Given the description of an element on the screen output the (x, y) to click on. 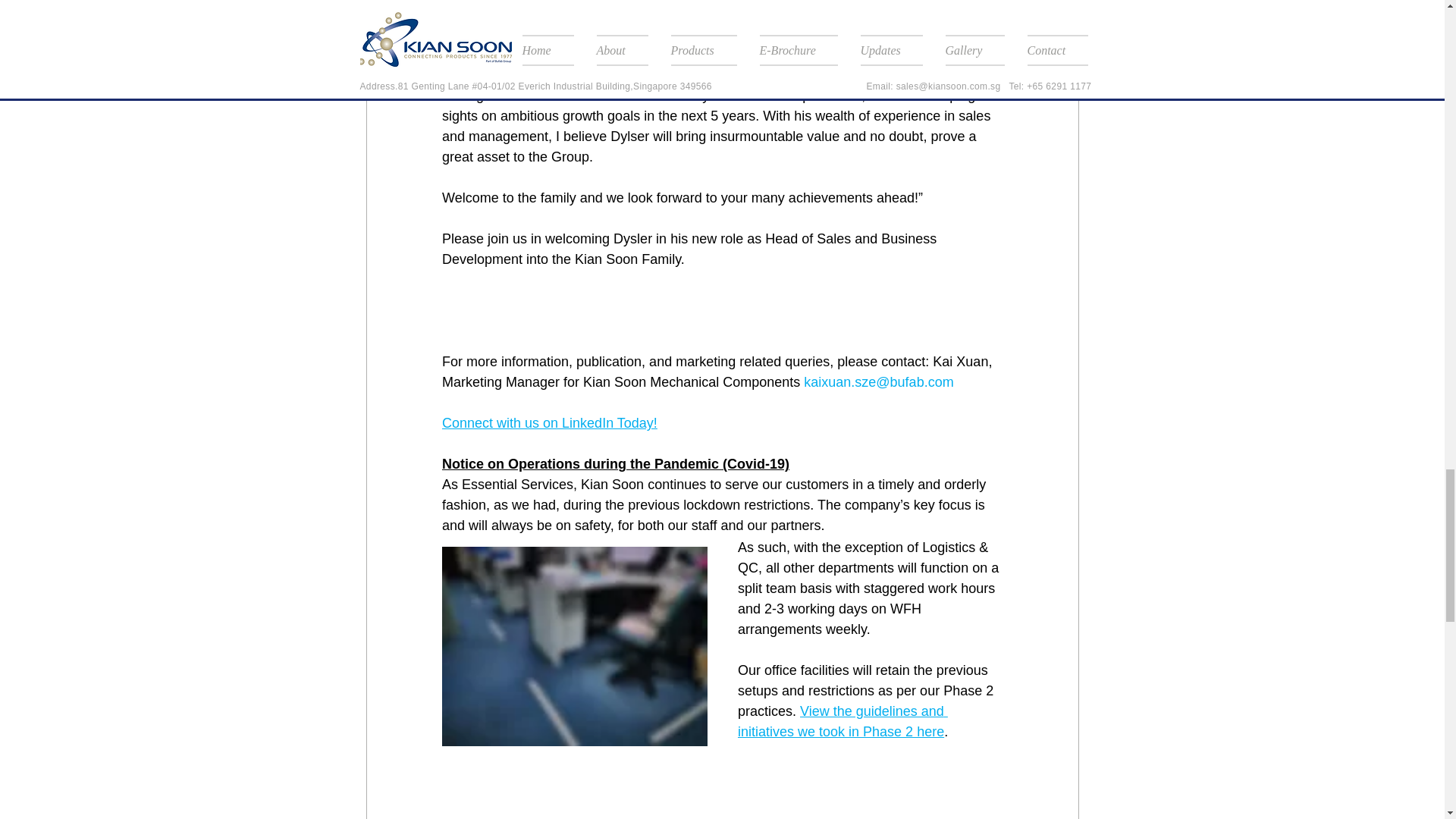
View the guidelines and initiatives we took in Phase 2 here (841, 721)
Connect with us on LinkedIn Today! (548, 422)
